Given the description of an element on the screen output the (x, y) to click on. 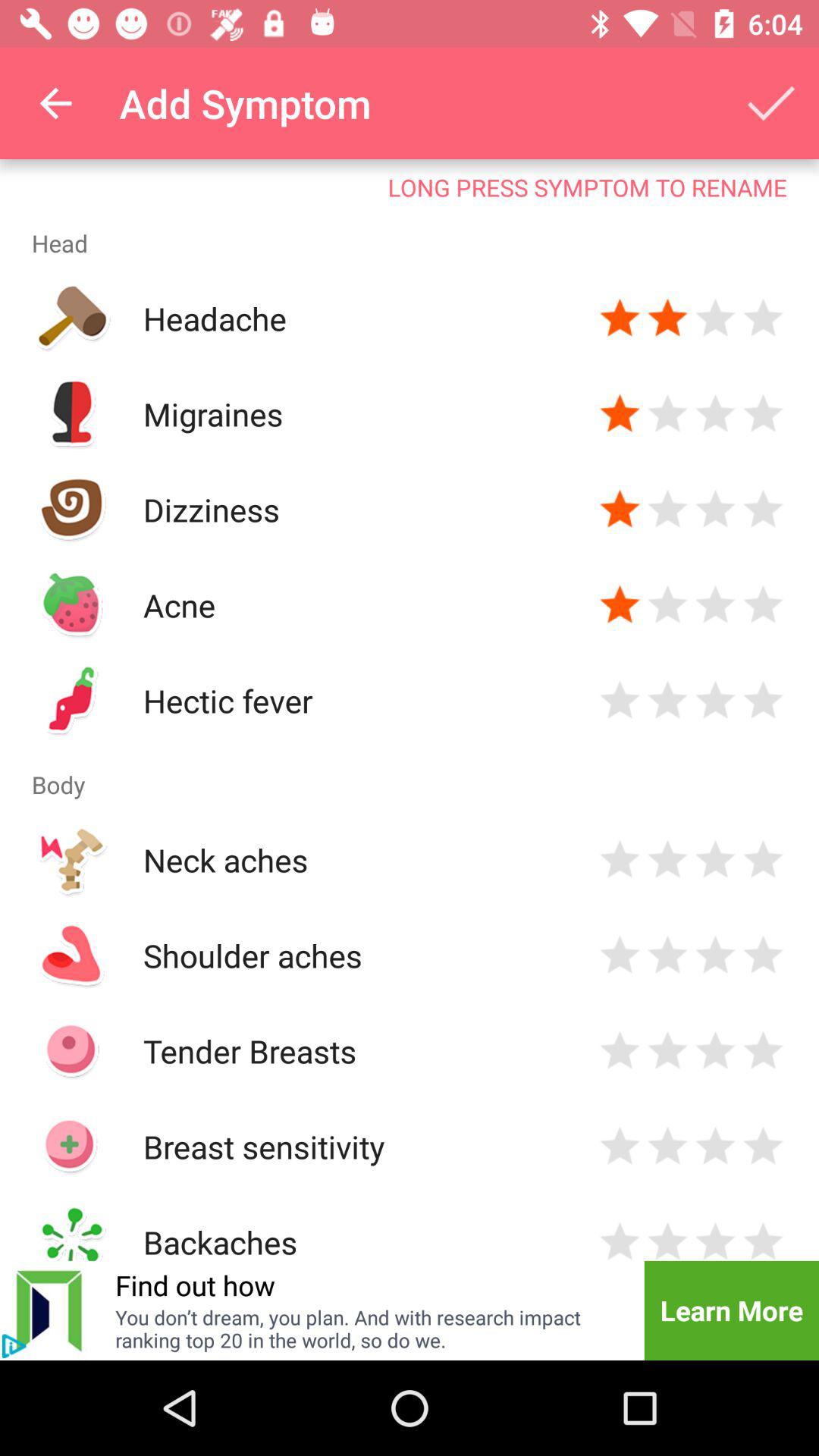
select the item above the long press symptom (771, 103)
